Given the description of an element on the screen output the (x, y) to click on. 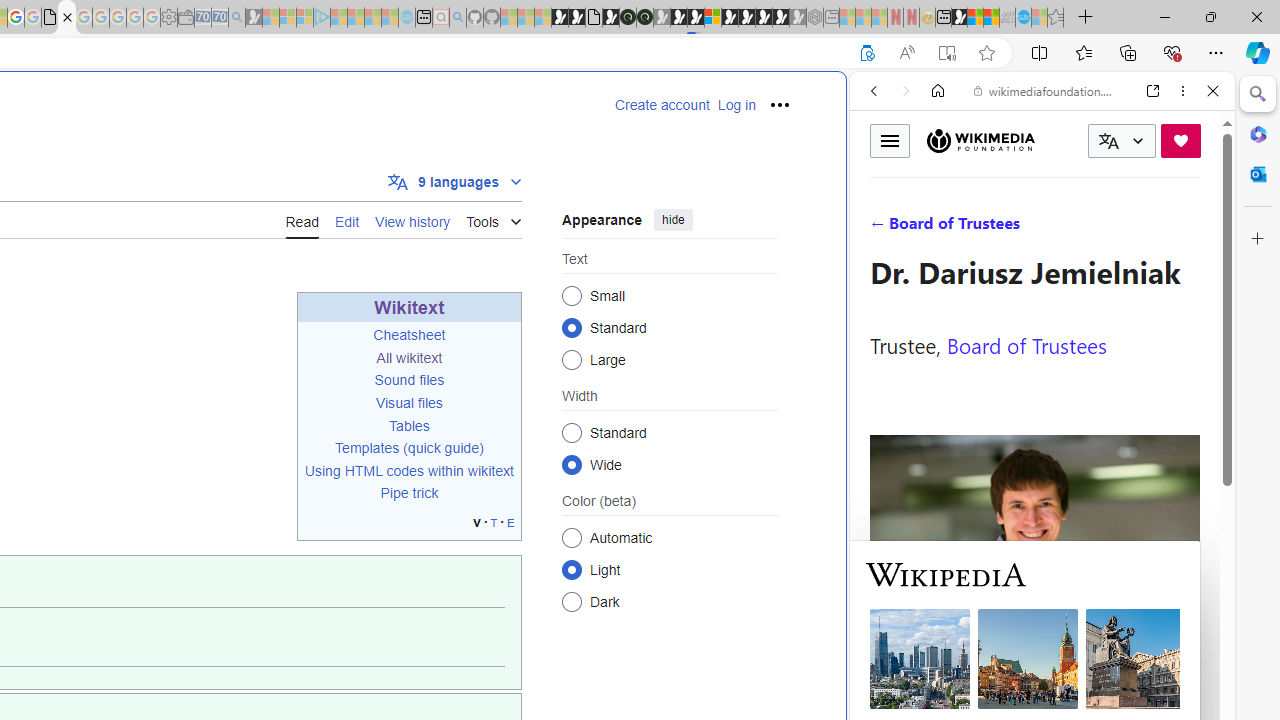
Read (301, 219)
View history (412, 219)
Visual files (408, 402)
Wikimedia Foundation (980, 141)
Template:Wikitext navbox - Wikipedia (66, 17)
Standard (571, 431)
Tools (493, 218)
CURRENT LANGUAGE: (1121, 141)
Wikitext (409, 307)
